Given the description of an element on the screen output the (x, y) to click on. 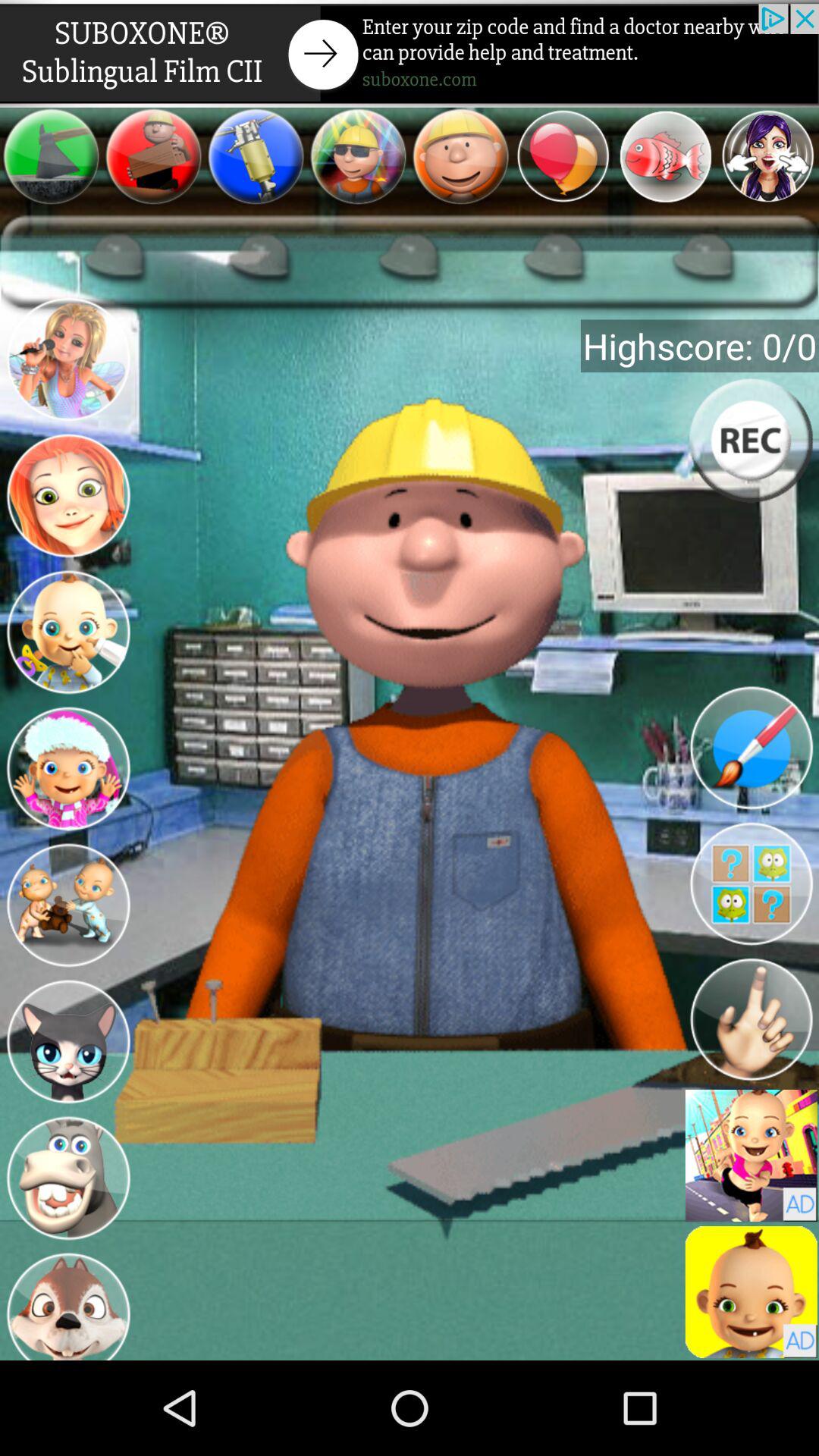
open link to app installation (751, 1291)
